Given the description of an element on the screen output the (x, y) to click on. 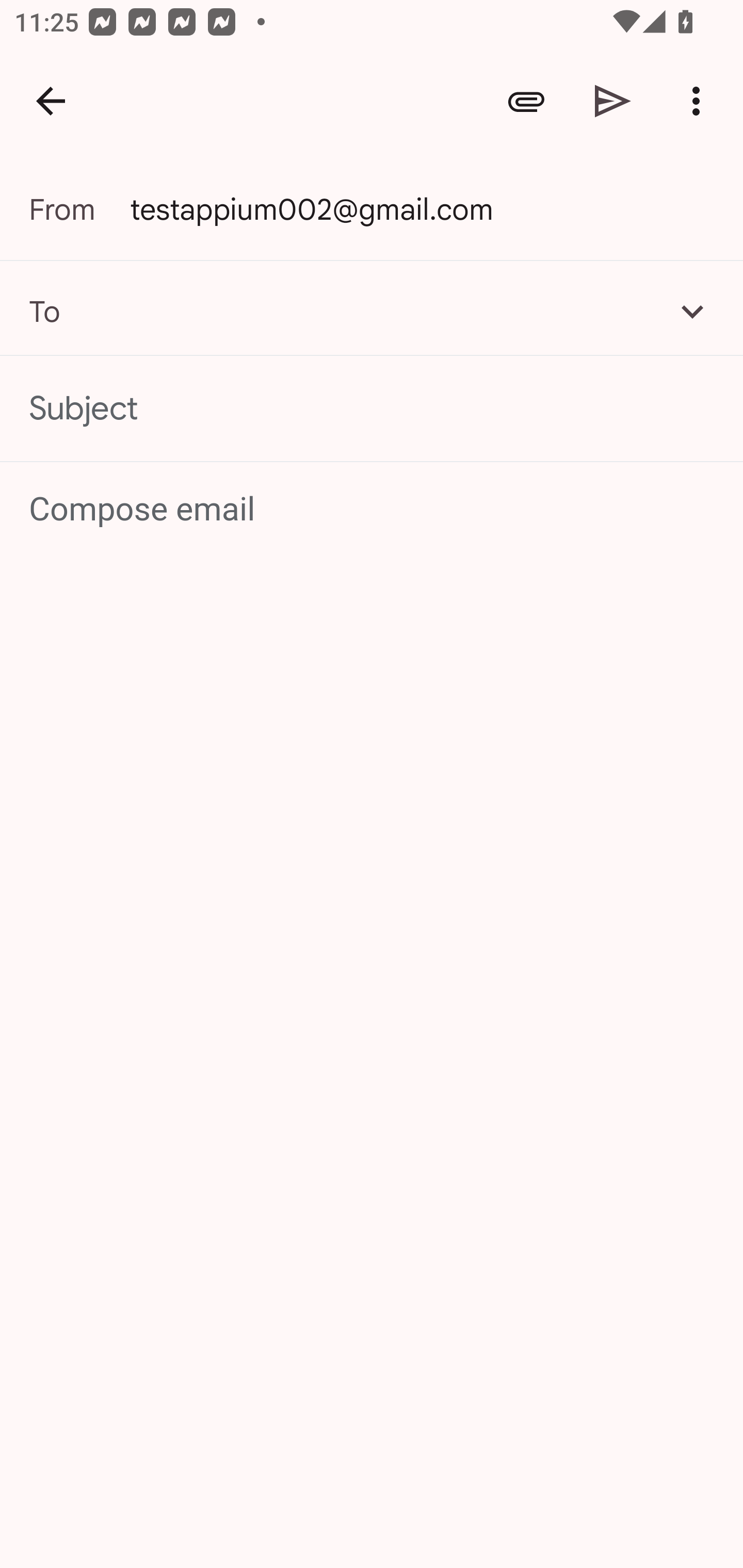
Navigate up (50, 101)
Attach file (525, 101)
Send (612, 101)
More options (699, 101)
From (79, 209)
Add Cc/Bcc (692, 311)
Subject (371, 407)
